Given the description of an element on the screen output the (x, y) to click on. 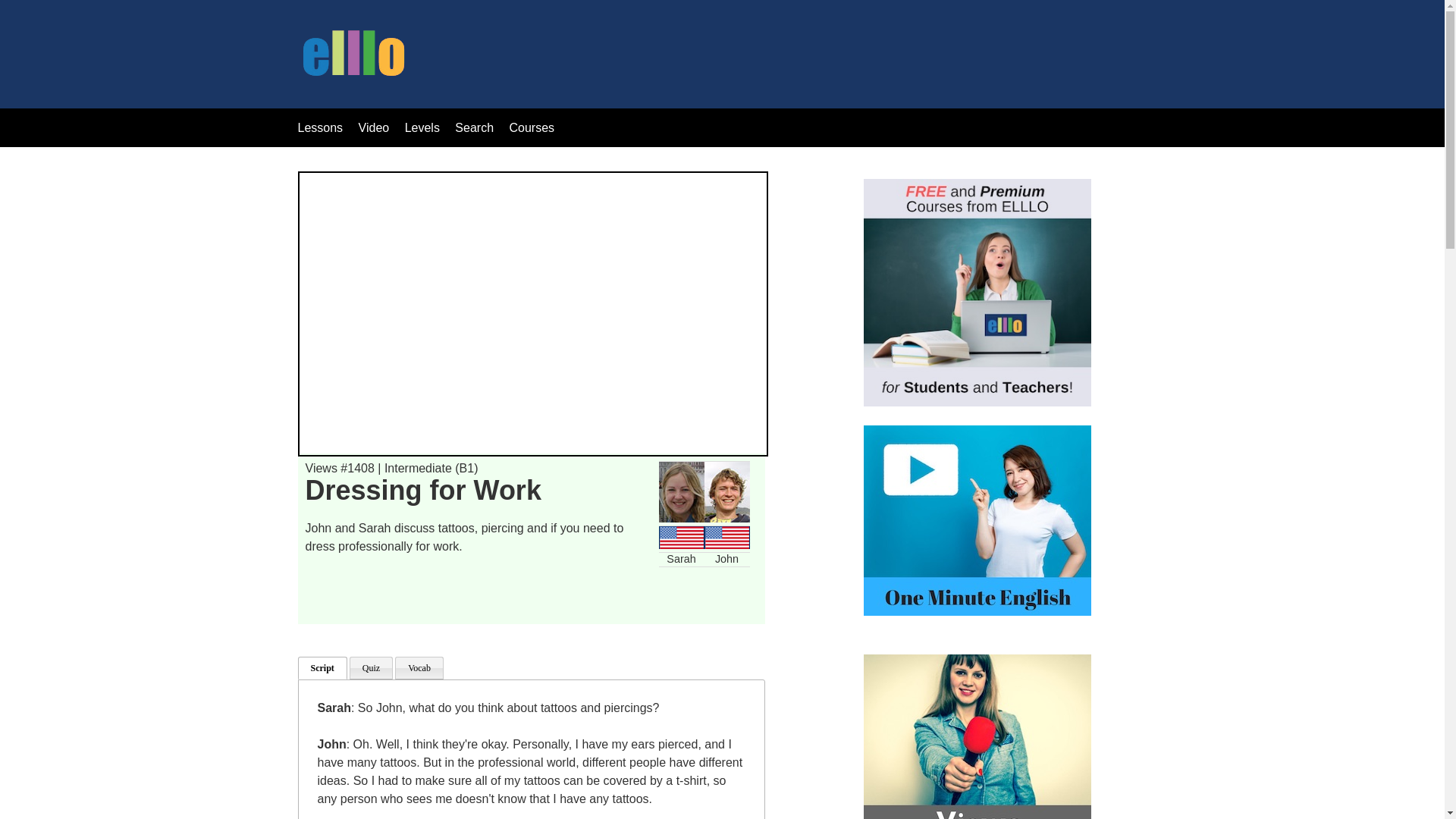
Levels (424, 127)
Search (475, 127)
Courses (531, 127)
Video (374, 127)
Lessons (319, 127)
Quiz (371, 667)
1408 Dressing for Work (532, 313)
Script (321, 667)
Vocab (419, 667)
